Given the description of an element on the screen output the (x, y) to click on. 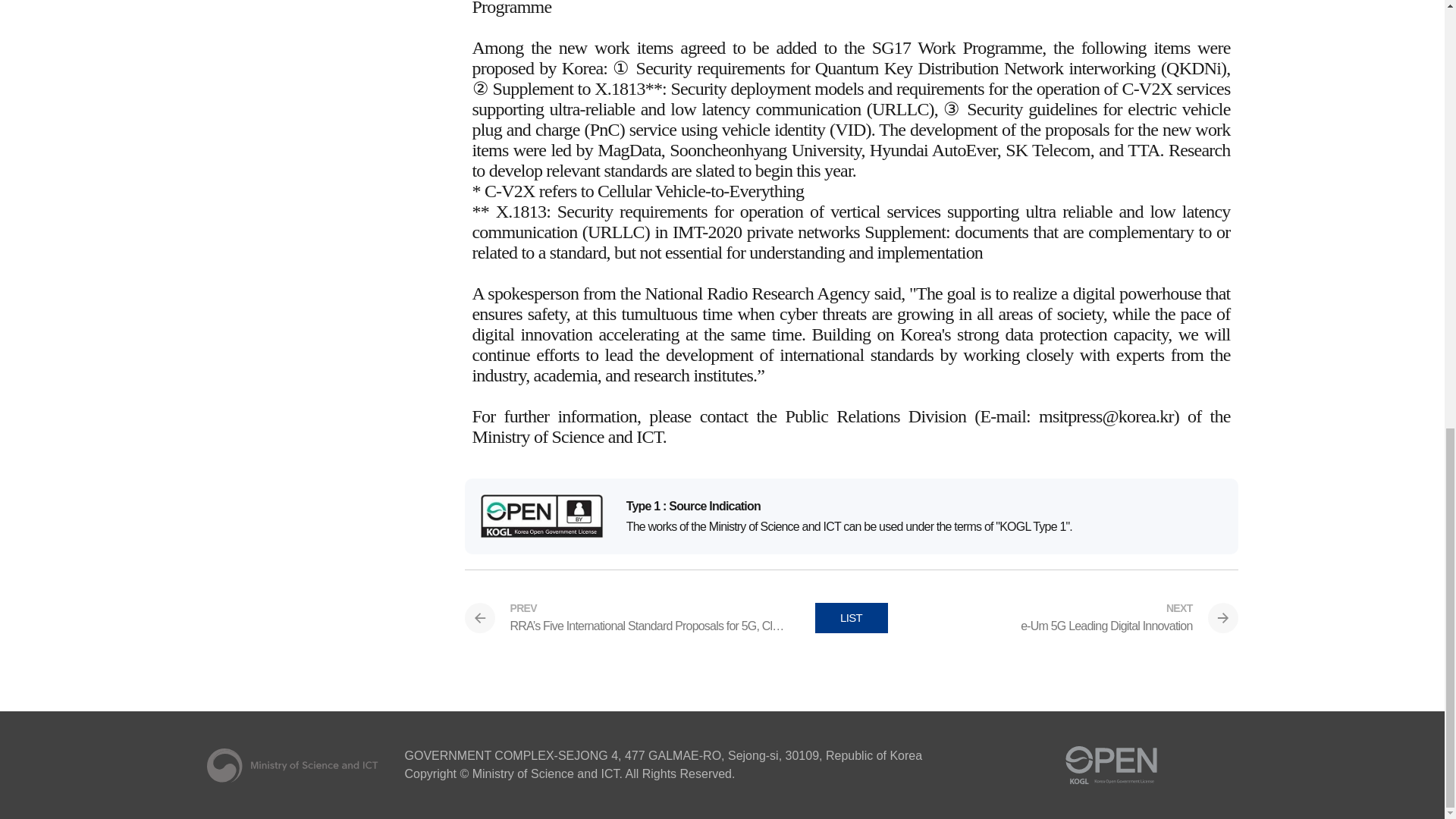
open new window (1203, 765)
open new window (1110, 765)
